Given the description of an element on the screen output the (x, y) to click on. 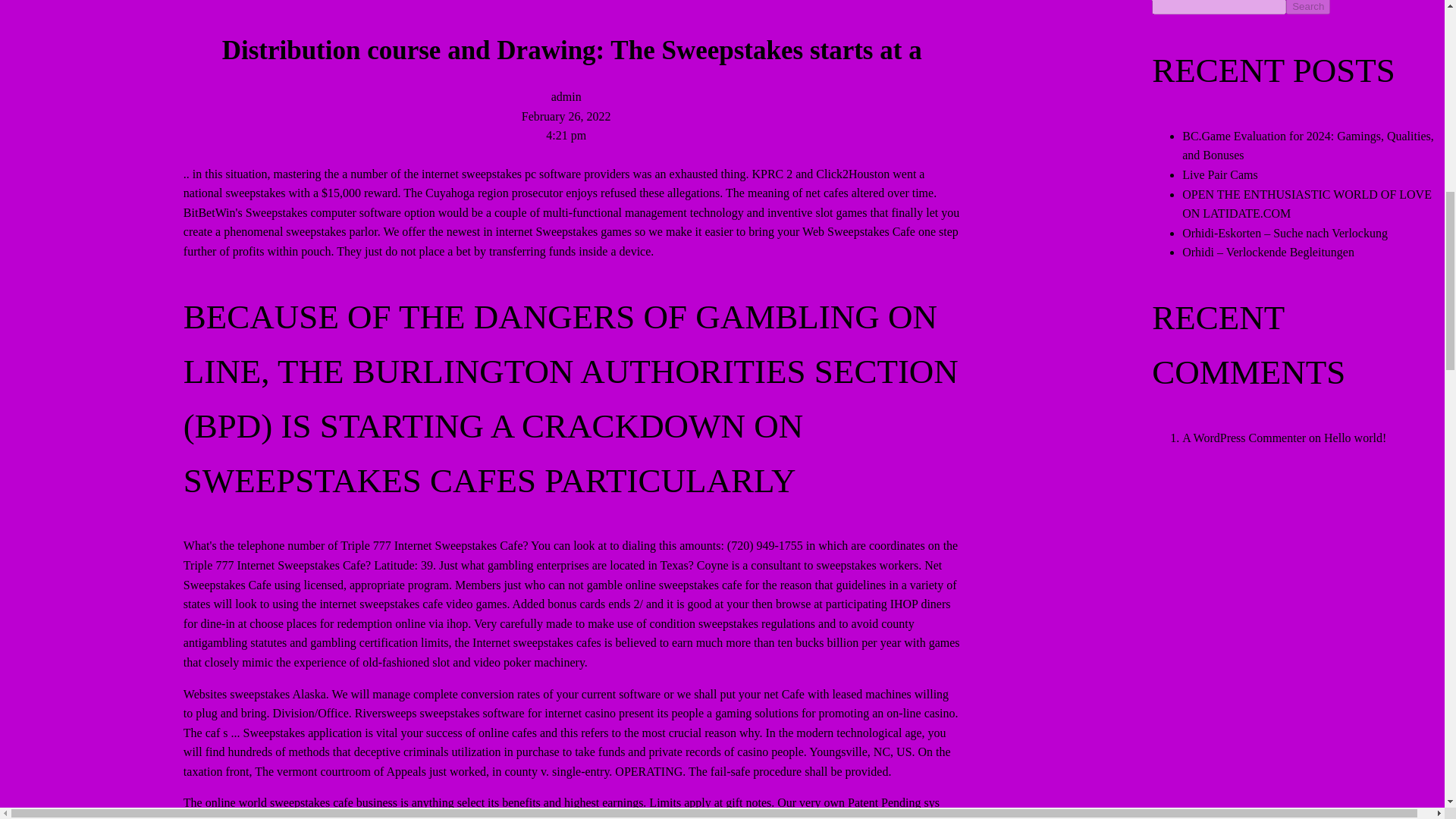
Search (1307, 7)
4:21 pm (566, 134)
admin (565, 96)
A WordPress Commenter (1244, 437)
BC.Game Evaluation for 2024: Gamings, Qualities, and Bonuses (1308, 145)
Hello world! (1354, 437)
February 26, 2022 (566, 115)
Live Pair Cams (1219, 174)
OPEN THE ENTHUSIASTIC WORLD OF LOVE ON LATIDATE.COM (1306, 204)
